Given the description of an element on the screen output the (x, y) to click on. 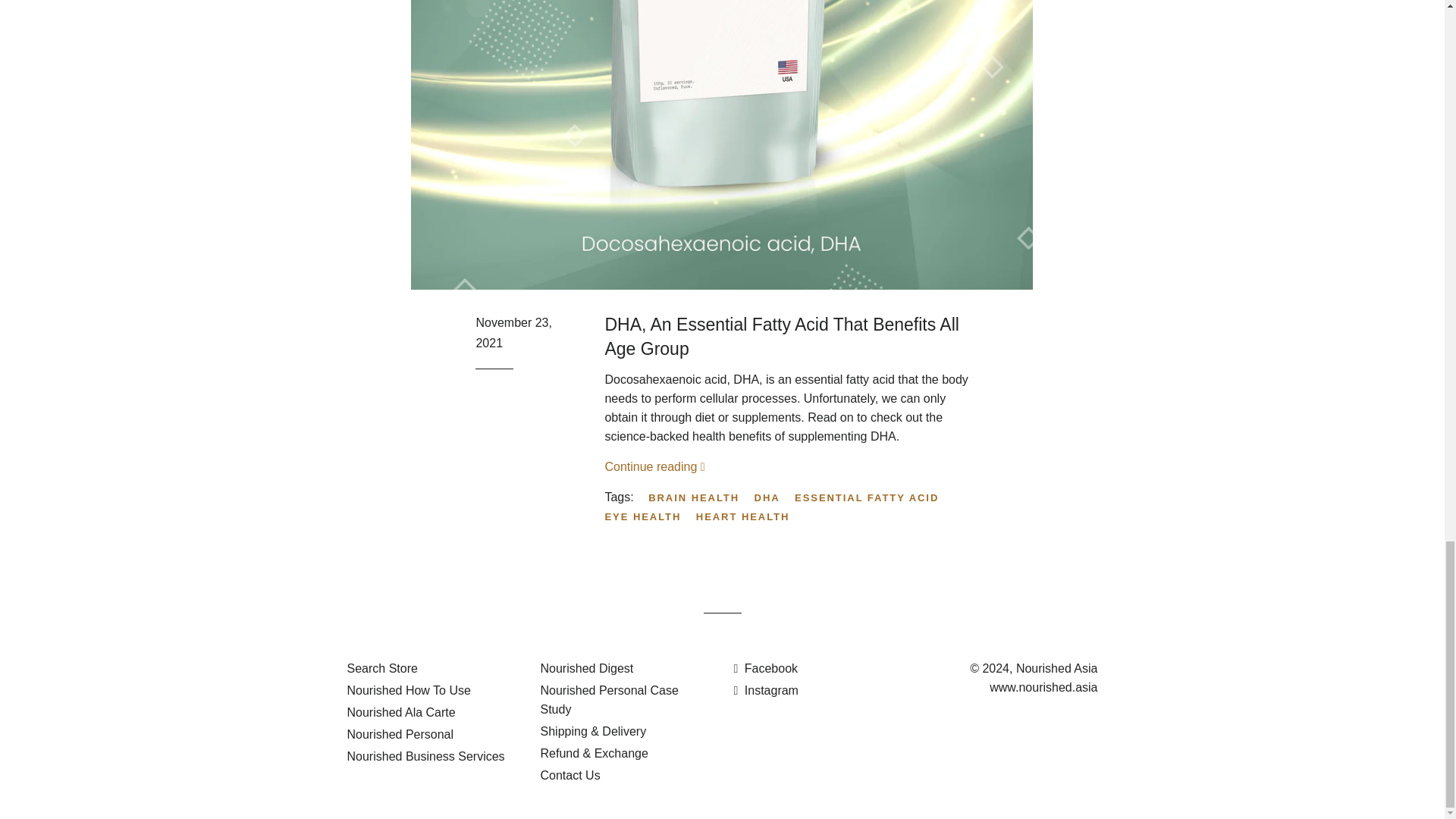
Nourished Asia on Instagram (765, 689)
Nourished Asia on Facebook (765, 667)
